Given the description of an element on the screen output the (x, y) to click on. 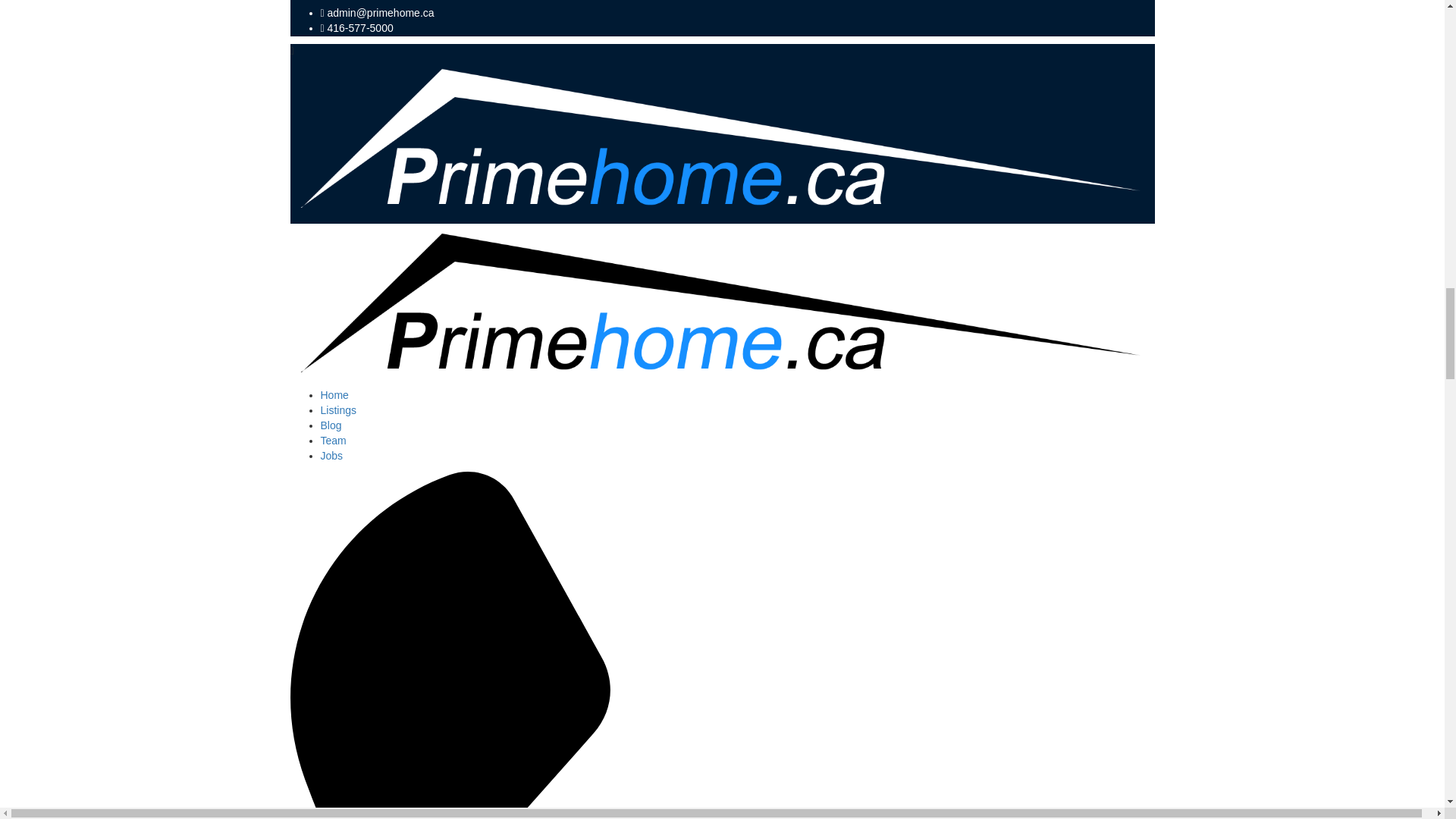
Team (333, 440)
Listings (337, 410)
Jobs (331, 455)
Blog (330, 425)
416-577-5000 (360, 28)
Home (333, 395)
